Given the description of an element on the screen output the (x, y) to click on. 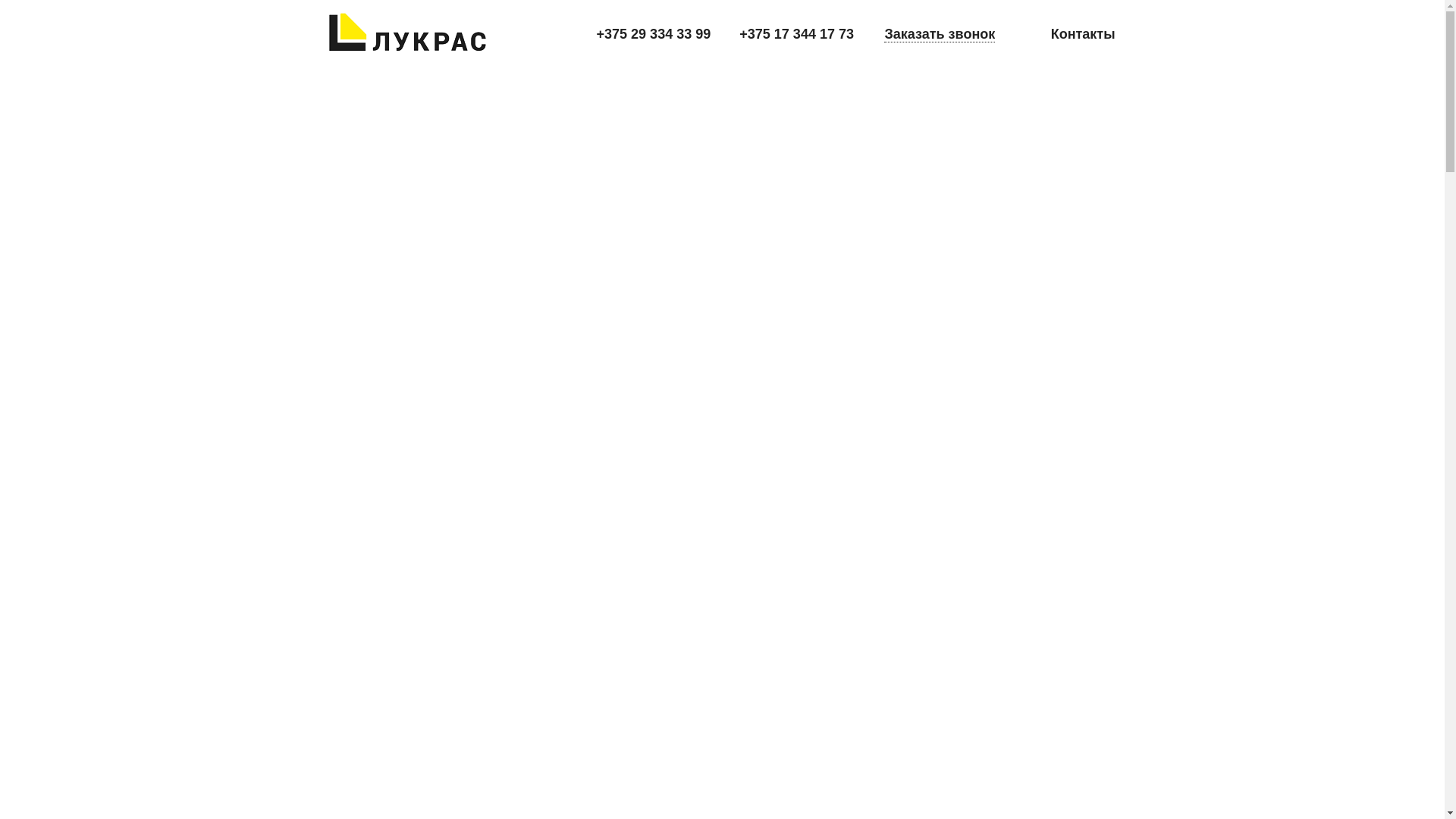
+375 17 344 17 73 Element type: text (796, 34)
+375 29 334 33 99 Element type: text (653, 34)
